Given the description of an element on the screen output the (x, y) to click on. 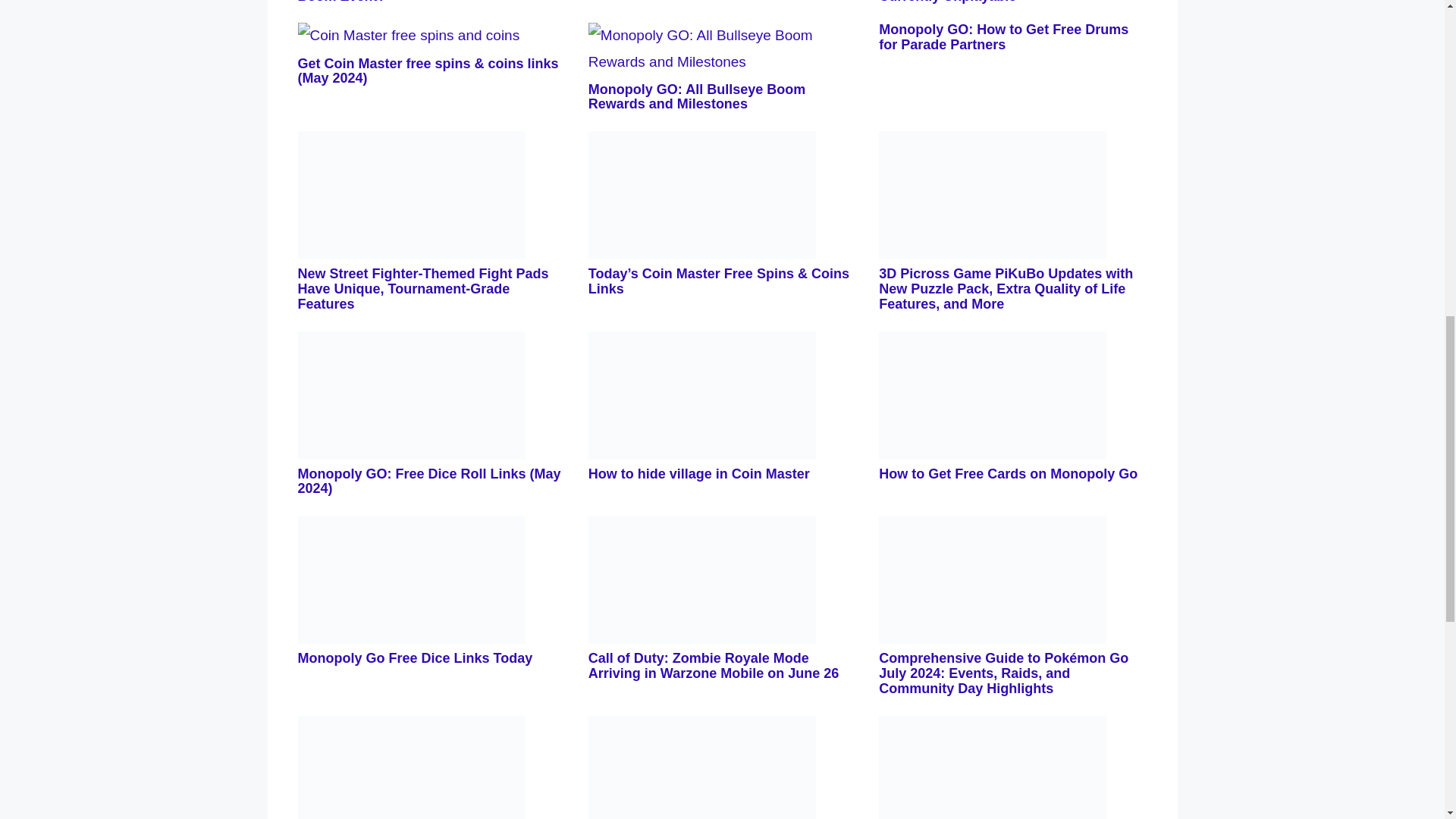
Monopoly GO: When is the Next Sticker Boom Event? (425, 2)
Minecraft PS5 Preview Spotted But Is Currently Unplayable (1000, 2)
Monopoly GO: How to Get Free Drums for Parade Partners (1003, 37)
Monopoly GO: All Bullseye Boom Rewards and Milestones (696, 96)
